Given the description of an element on the screen output the (x, y) to click on. 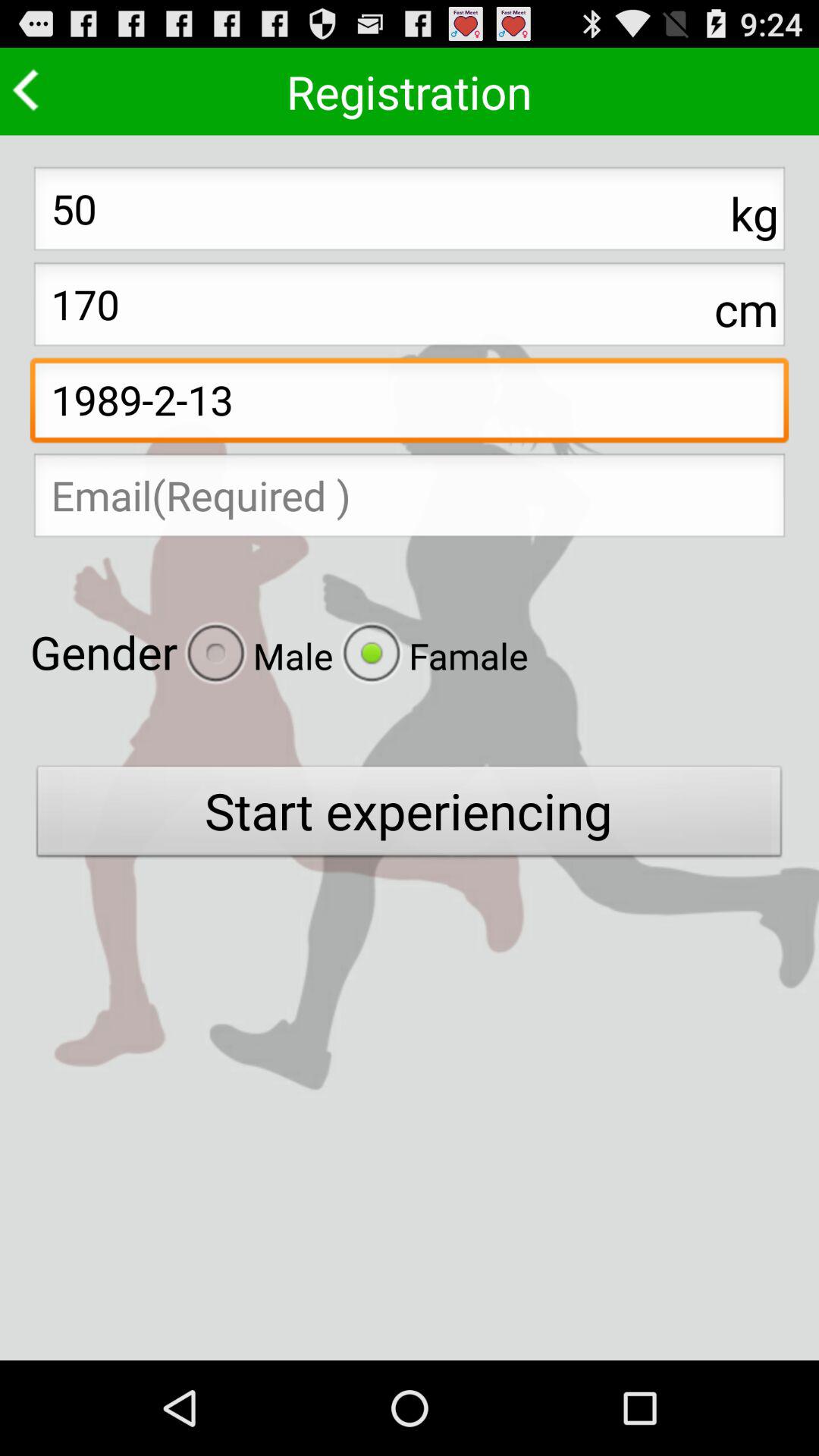
toggle text (409, 499)
